Given the description of an element on the screen output the (x, y) to click on. 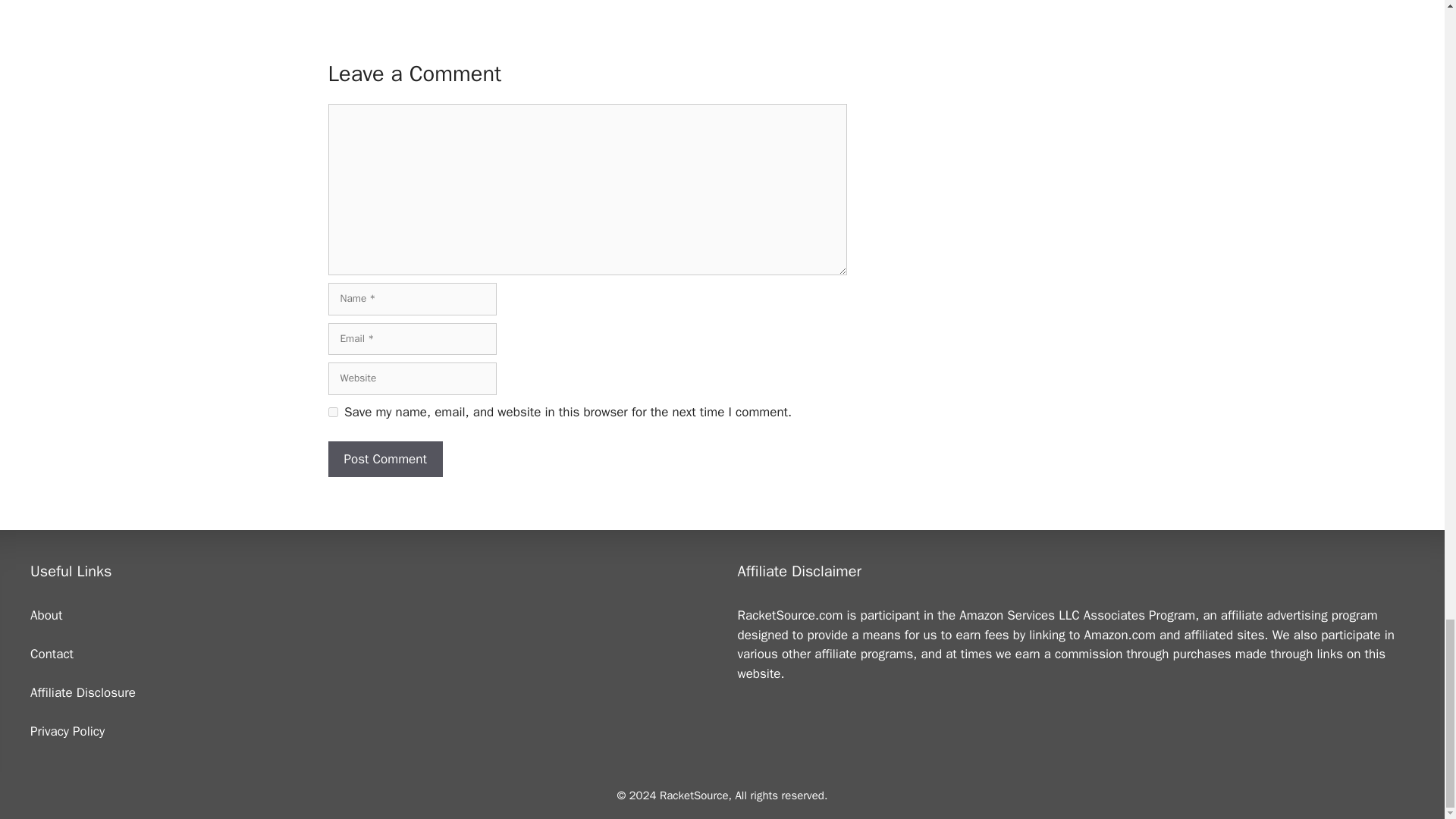
Privacy Policy (67, 731)
Contact (52, 653)
Post Comment (384, 459)
yes (332, 411)
About (46, 615)
Affiliate Disclosure (82, 692)
Post Comment (384, 459)
